Given the description of an element on the screen output the (x, y) to click on. 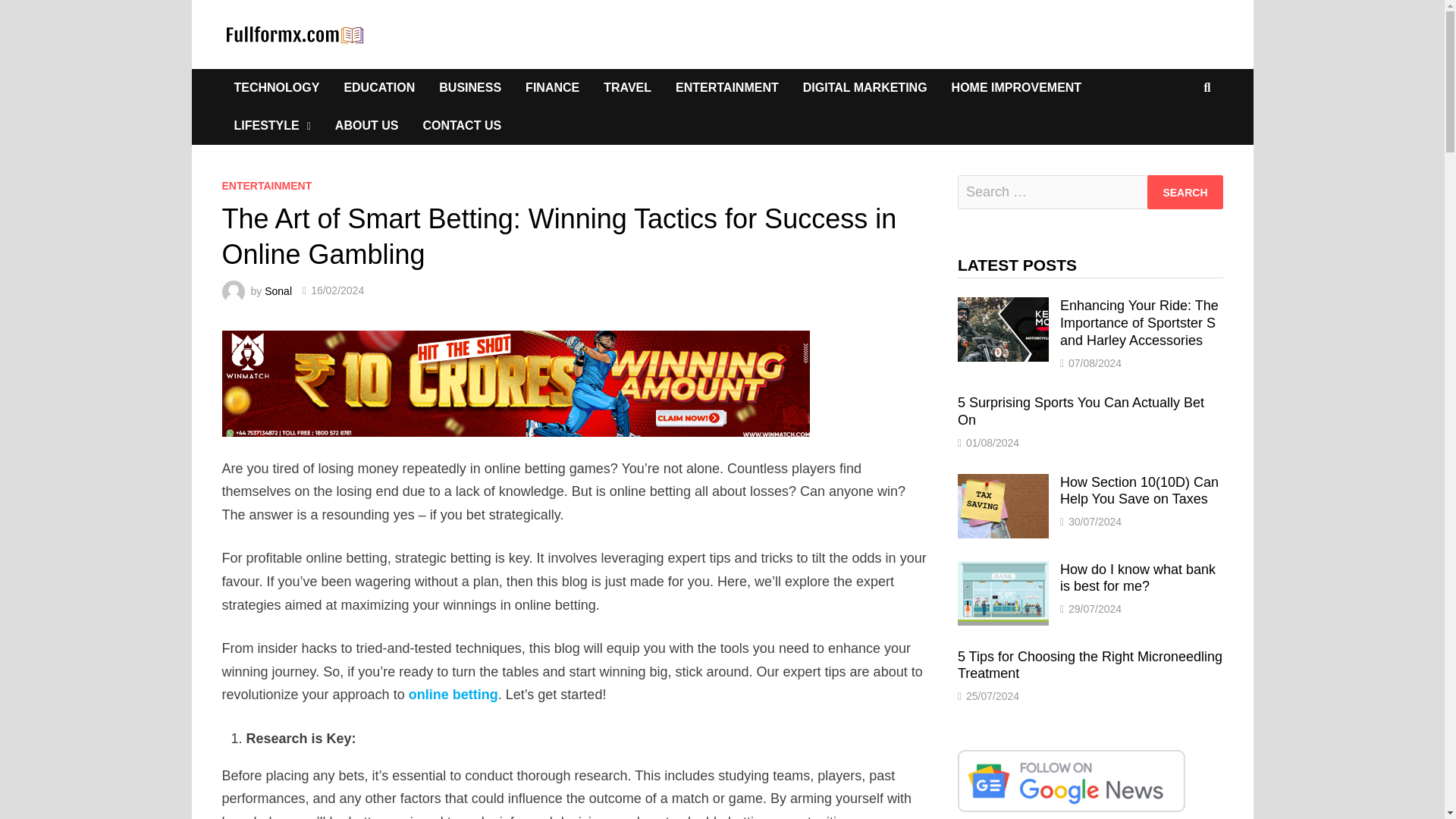
TRAVEL (627, 87)
HOME IMPROVEMENT (1016, 87)
Search (1185, 192)
Sonal (278, 290)
CONTACT US (461, 125)
LIFESTYLE (271, 125)
ENTERTAINMENT (726, 87)
online betting (453, 694)
ABOUT US (366, 125)
Search (1185, 192)
FINANCE (552, 87)
BUSINESS (469, 87)
How do I know what bank is best for me? (1003, 570)
TECHNOLOGY (276, 87)
